Given the description of an element on the screen output the (x, y) to click on. 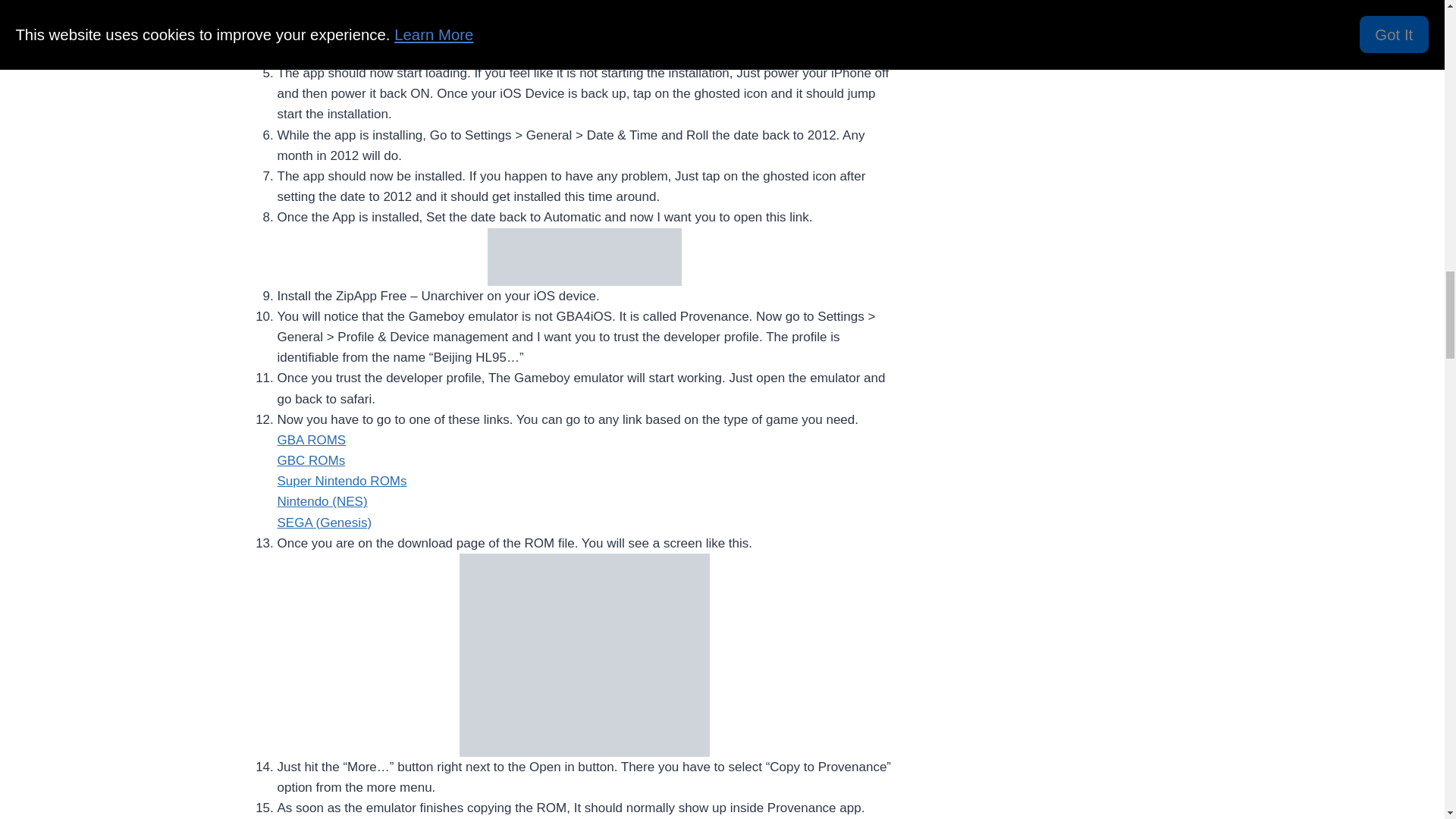
Super Nintendo ROMs (342, 481)
GBC ROMs (312, 460)
GBA ROMS (312, 440)
